Given the description of an element on the screen output the (x, y) to click on. 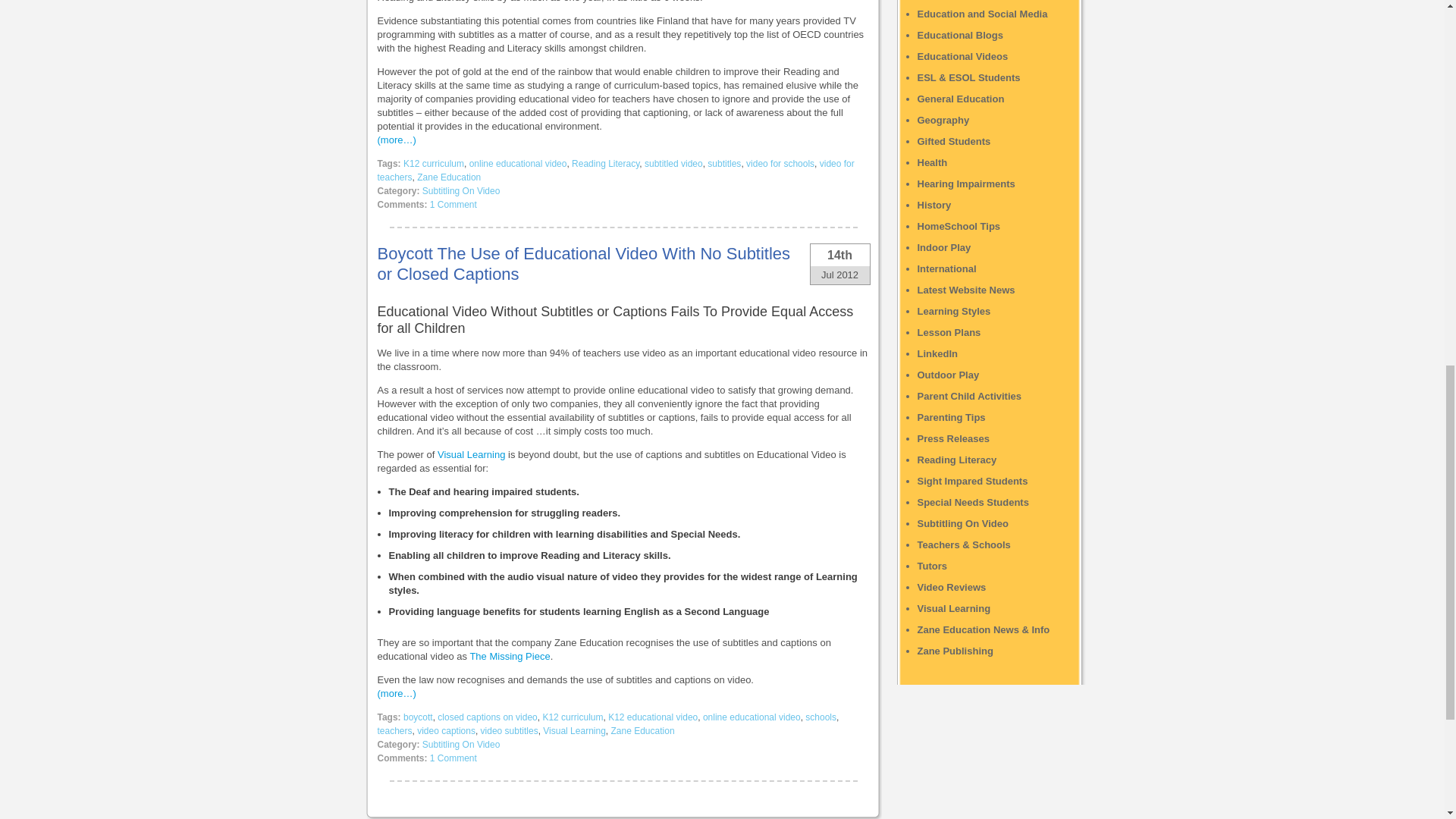
online educational video (517, 163)
K12 curriculum (433, 163)
subtitled video (674, 163)
Reading Literacy (605, 163)
Useful and interesting parenting tips and information. (951, 417)
visual learning in schools (471, 454)
